Given the description of an element on the screen output the (x, y) to click on. 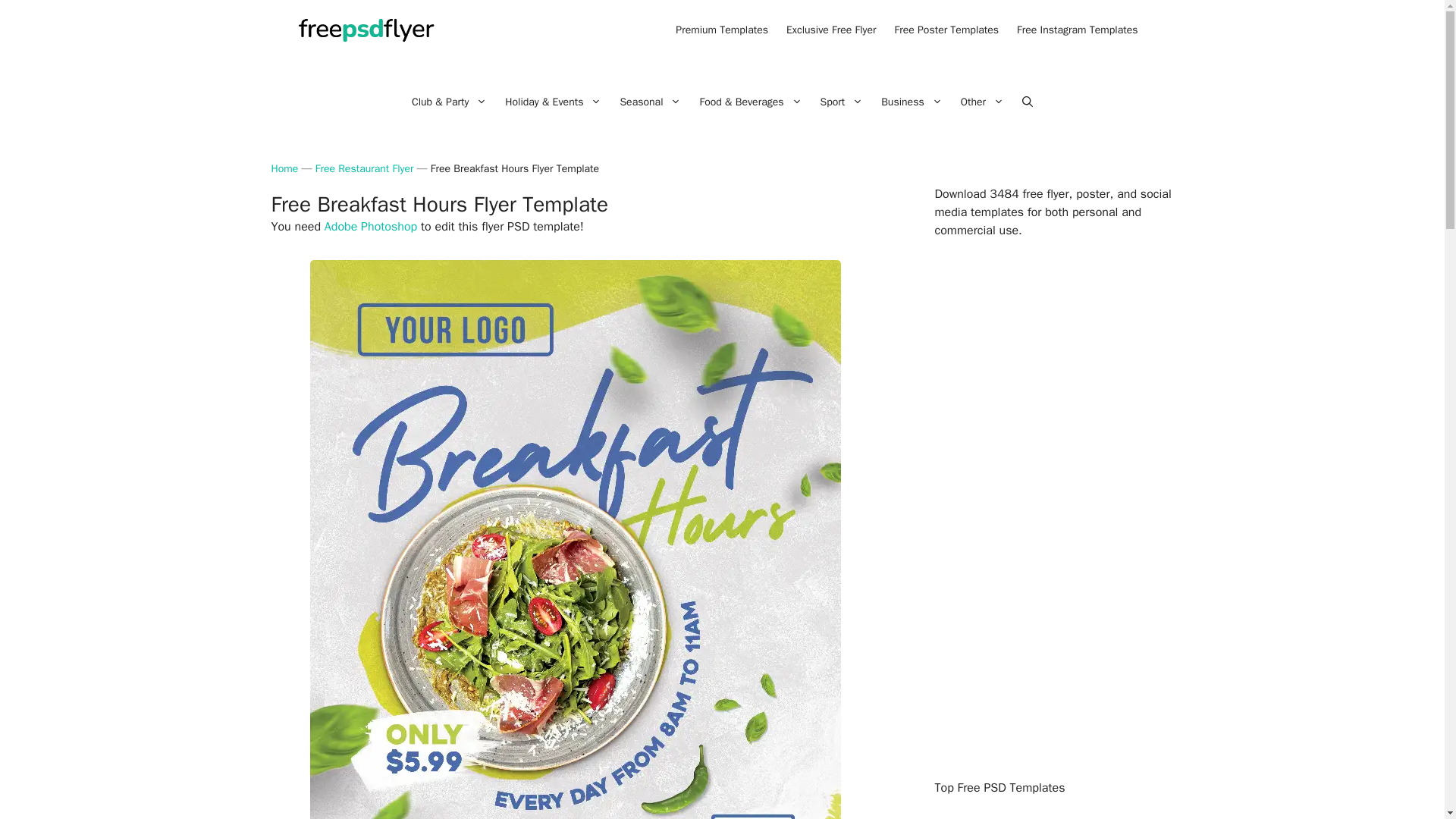
Premium Templates (721, 30)
Exclusive Free Flyer (831, 30)
Free Instagram Templates (1077, 30)
Free Poster Templates (947, 30)
Miscellaneous Free PSD Flyer Categories (982, 102)
Free Business Flyer PSD Templates (911, 102)
Free Seasonal Event Flyer PSD Templates (650, 102)
Free Sports Flyer PSD Templates (841, 102)
